Given the description of an element on the screen output the (x, y) to click on. 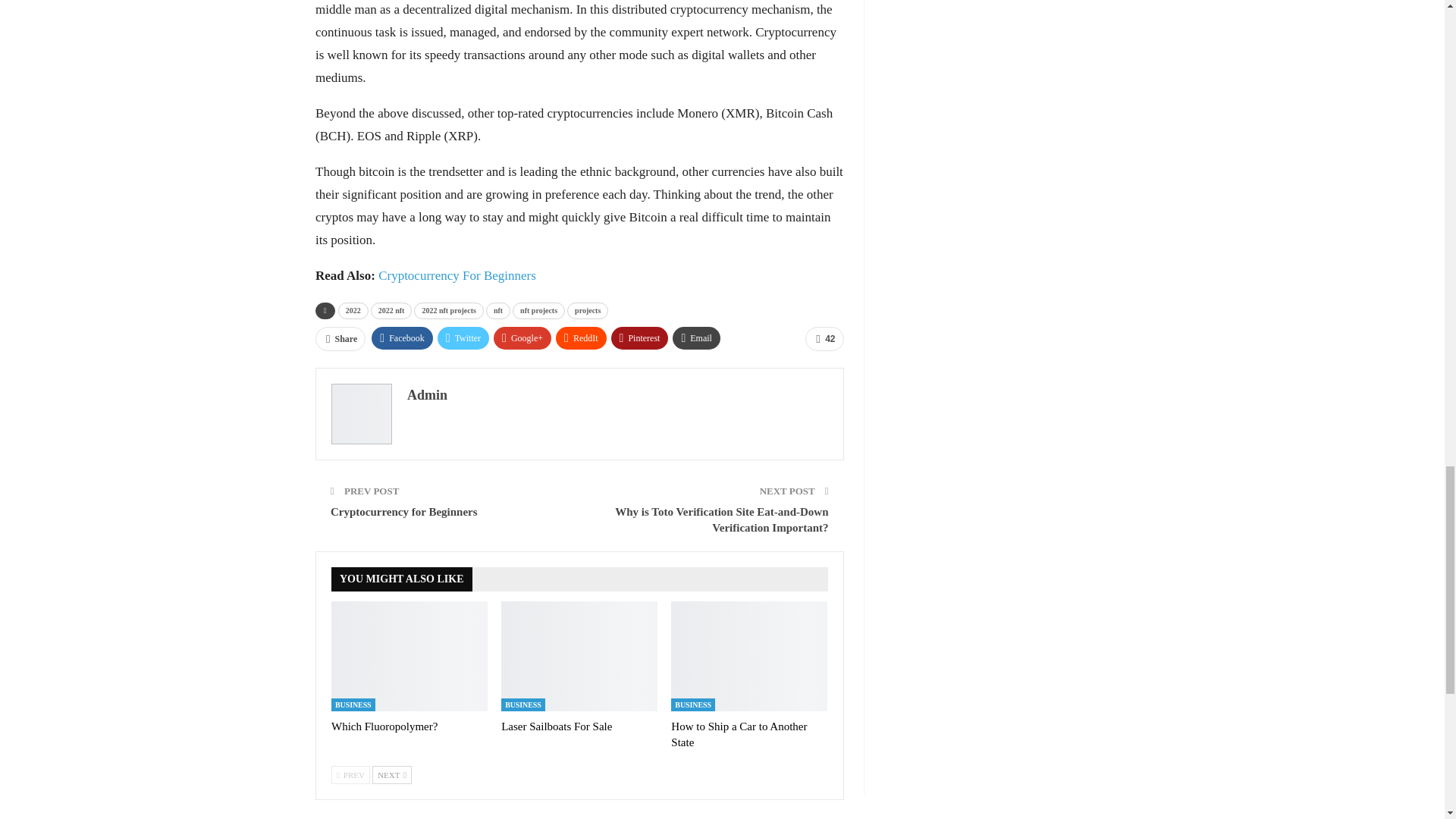
How to Ship a Car to Another State (749, 655)
Which Fluoropolymer? (409, 655)
Laser Sailboats For Sale (579, 655)
Laser Sailboats For Sale (555, 726)
How to Ship a Car to Another State (738, 734)
Which Fluoropolymer? (384, 726)
